Given the description of an element on the screen output the (x, y) to click on. 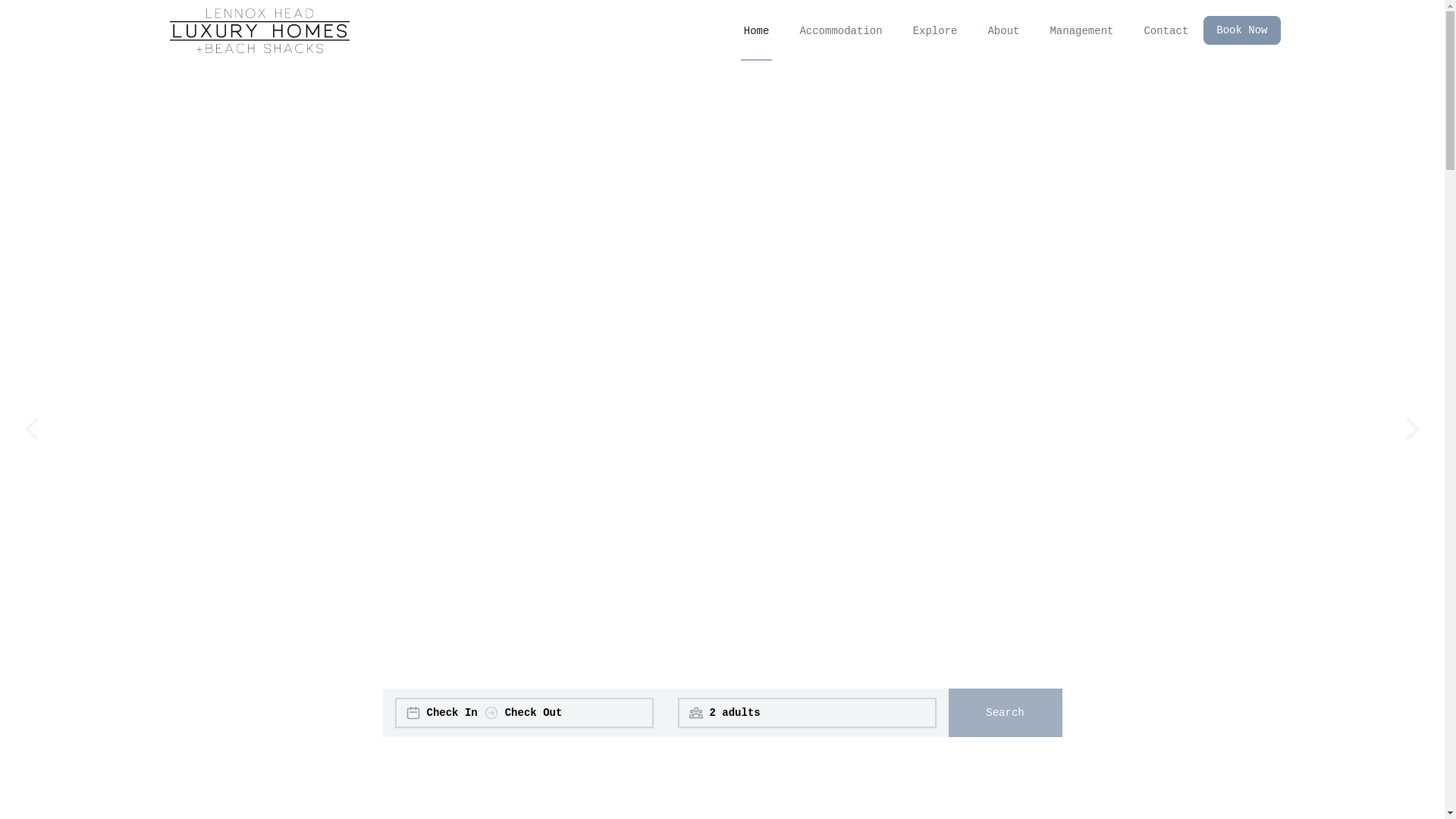
Book Now Element type: text (1241, 29)
About Element type: text (1003, 30)
Search Element type: text (1004, 712)
Book Now Element type: text (1235, 30)
Management Element type: text (1081, 30)
Explore Element type: text (935, 30)
Contact Element type: text (1165, 30)
Home Element type: text (756, 30)
Accommodation Element type: text (840, 30)
